Given the description of an element on the screen output the (x, y) to click on. 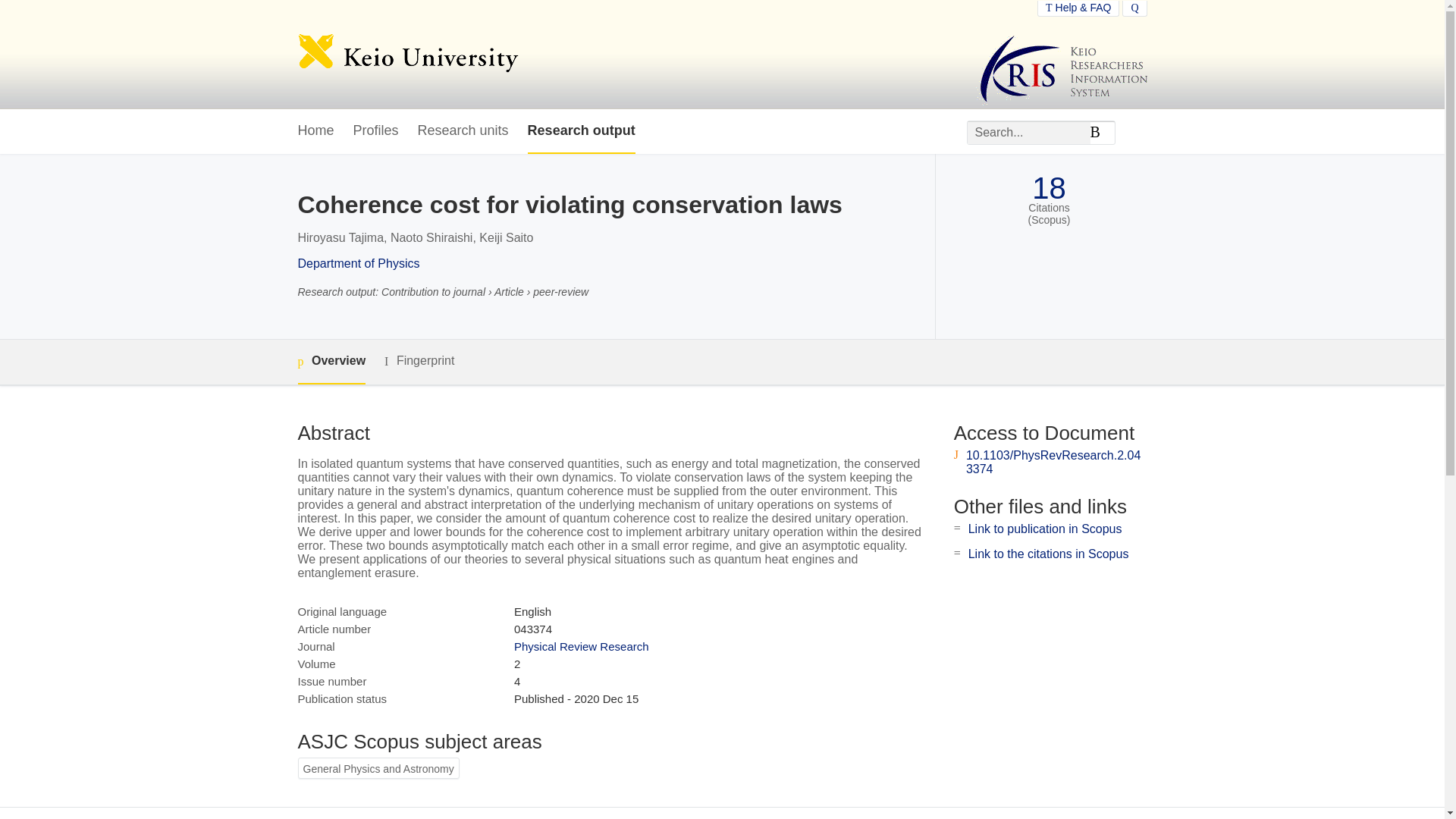
Fingerprint (419, 361)
18 (1048, 188)
Research units (462, 130)
Physical Review Research (581, 645)
Link to the citations in Scopus (1048, 553)
Link to publication in Scopus (1045, 528)
Profiles (375, 130)
Keio University Home (407, 54)
Research output (580, 130)
